Given the description of an element on the screen output the (x, y) to click on. 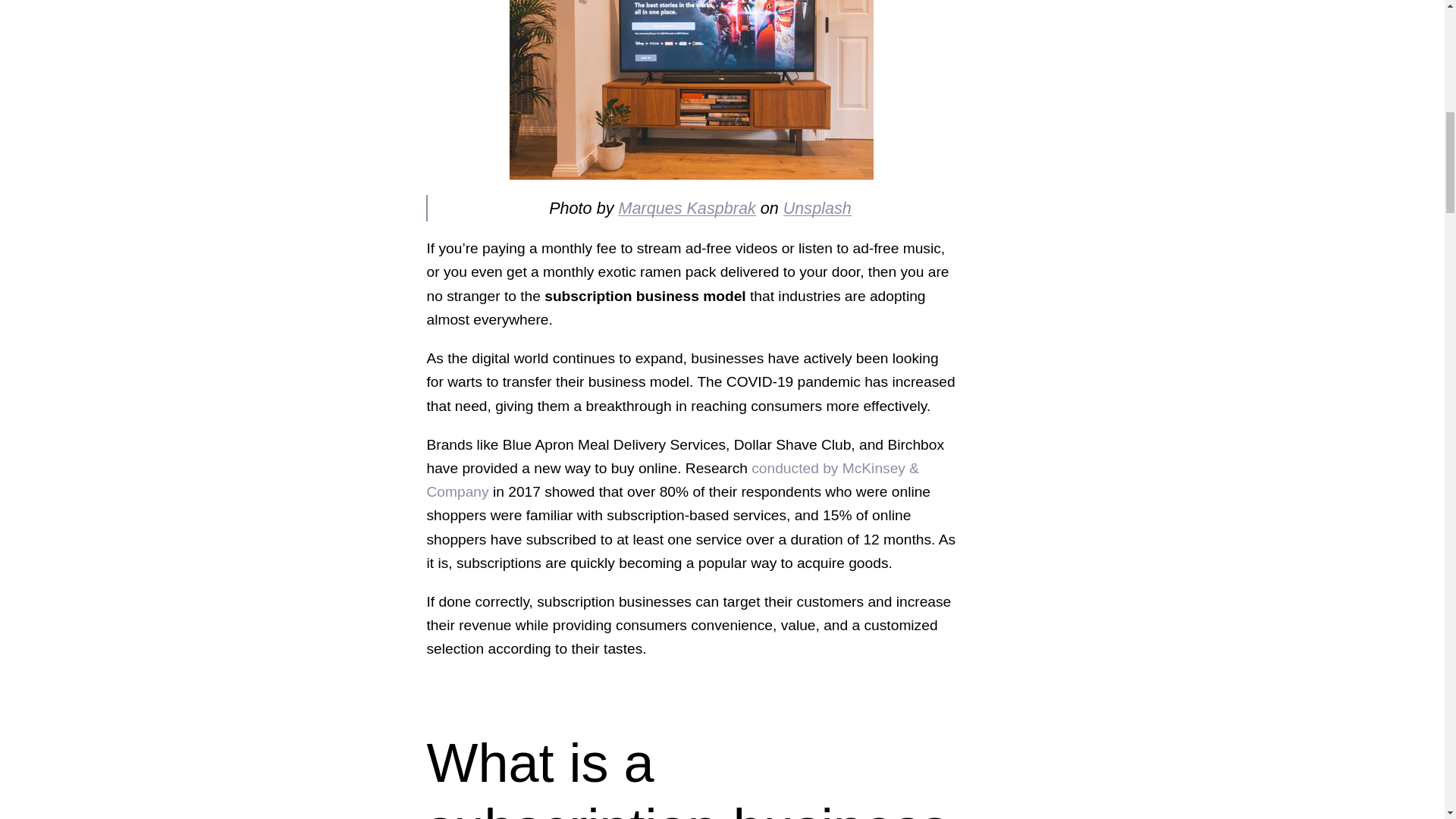
Unsplash (817, 208)
Marques Kaspbrak (686, 208)
